Given the description of an element on the screen output the (x, y) to click on. 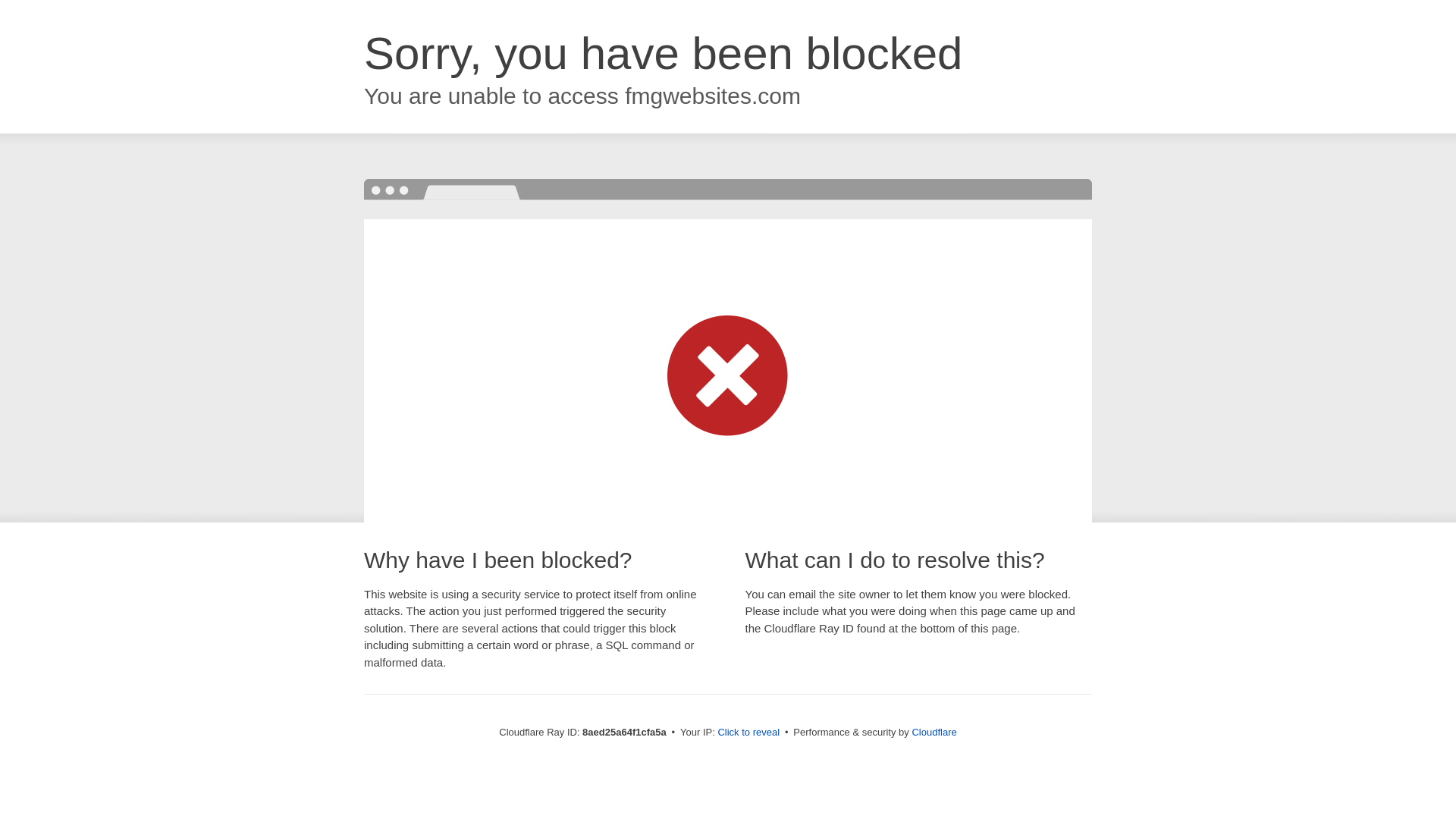
Click to reveal (747, 732)
Cloudflare (933, 731)
